Given the description of an element on the screen output the (x, y) to click on. 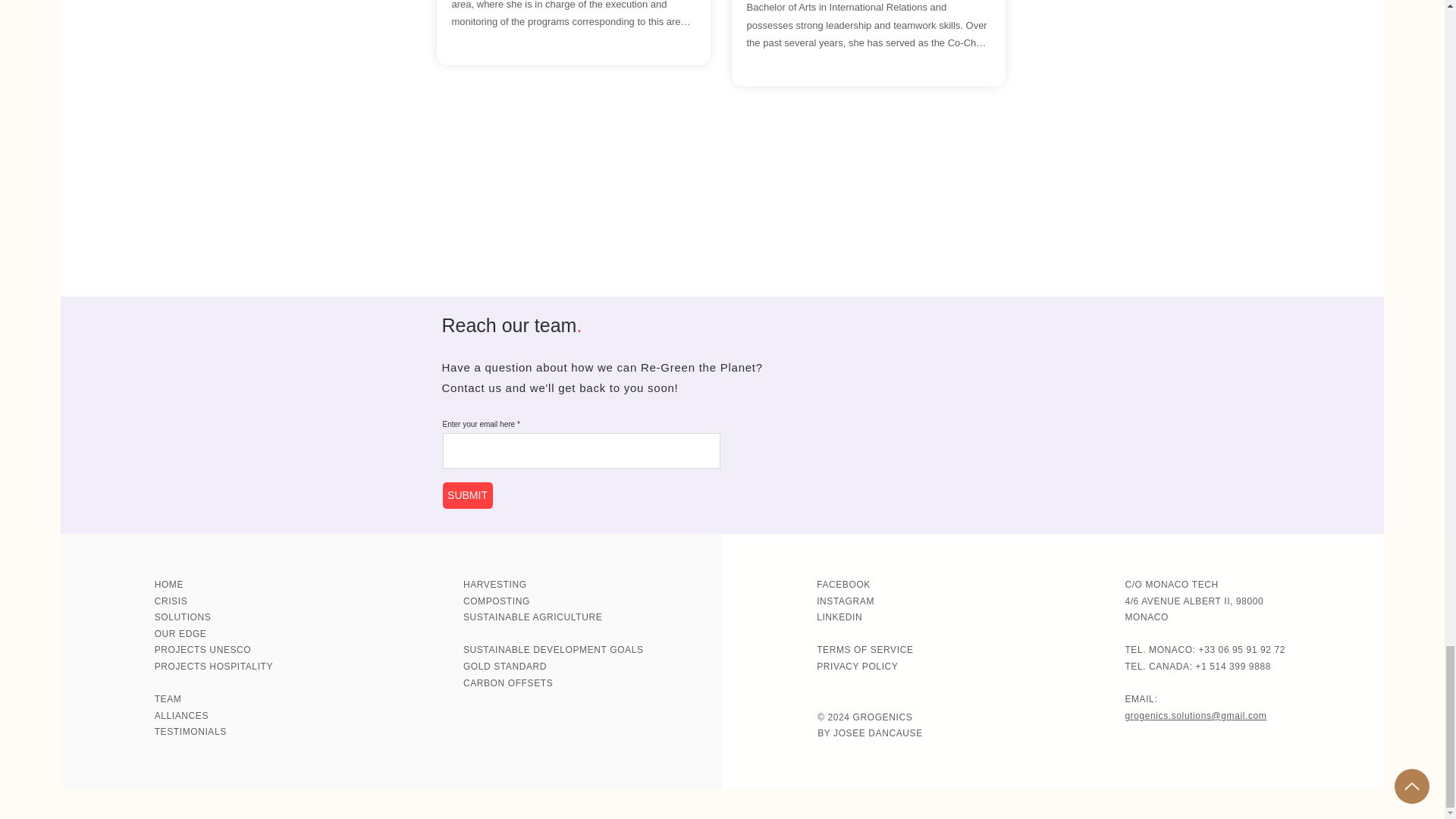
PROJECTS HOSPITALITY (213, 665)
SUBMIT (467, 495)
TERMS OF SERVICE (864, 649)
SUSTAINABLE AGRICULTURE (532, 616)
SOLUTIONS (182, 616)
TEAM (168, 698)
ALLIANCES (181, 715)
LINKEDIN (838, 616)
FACEBOOK (843, 584)
GOLD STANDARD (505, 665)
HOME (168, 584)
HARVESTING (495, 584)
TESTIMONIALS (190, 731)
CARBON OFFSETS (508, 683)
PROJECTS UNESCO (202, 649)
